Given the description of an element on the screen output the (x, y) to click on. 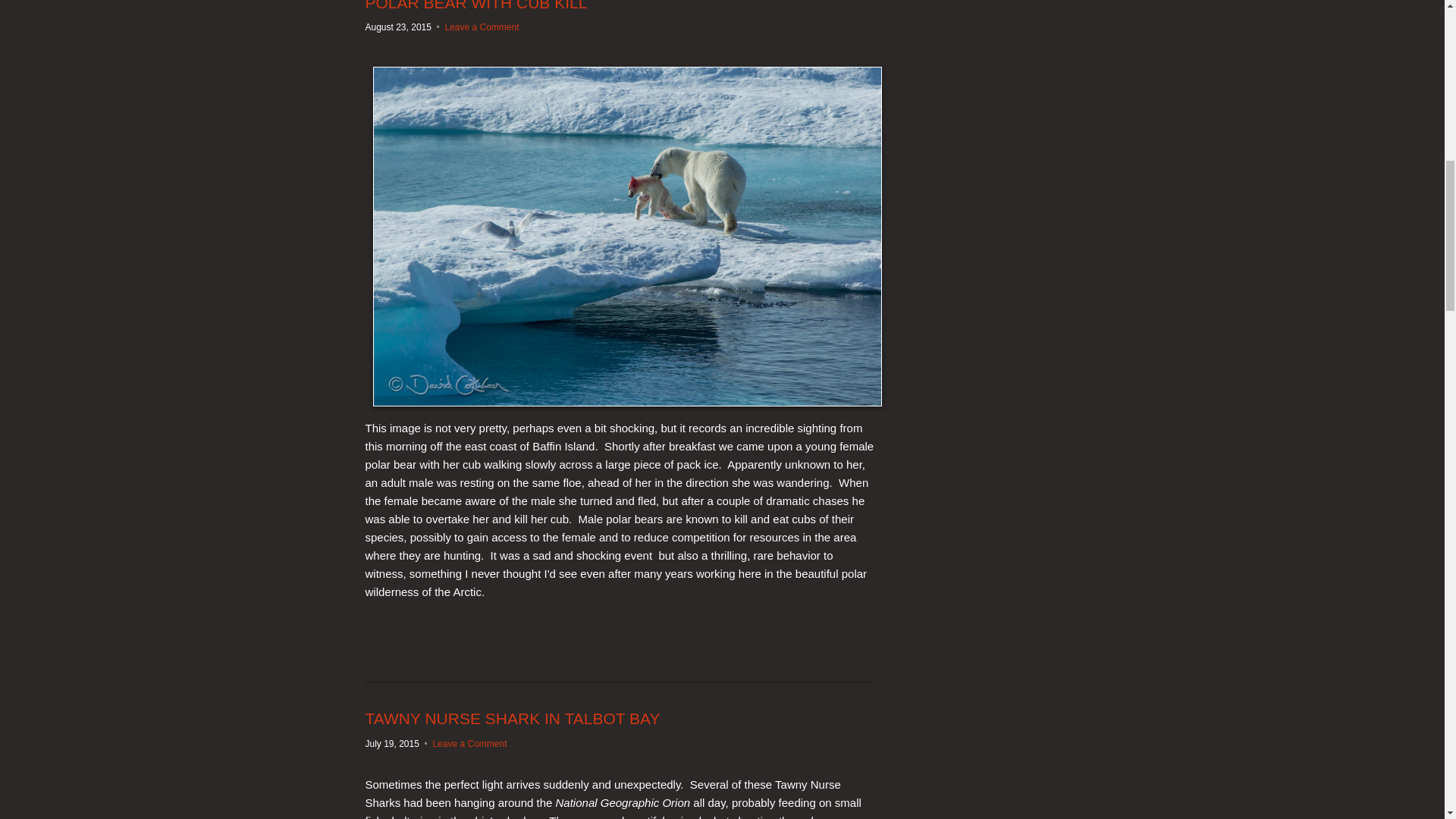
Leave a Comment (481, 27)
TAWNY NURSE SHARK IN TALBOT BAY (513, 718)
Leave a Comment (469, 743)
POLAR BEAR WITH CUB KILL (476, 5)
